Given the description of an element on the screen output the (x, y) to click on. 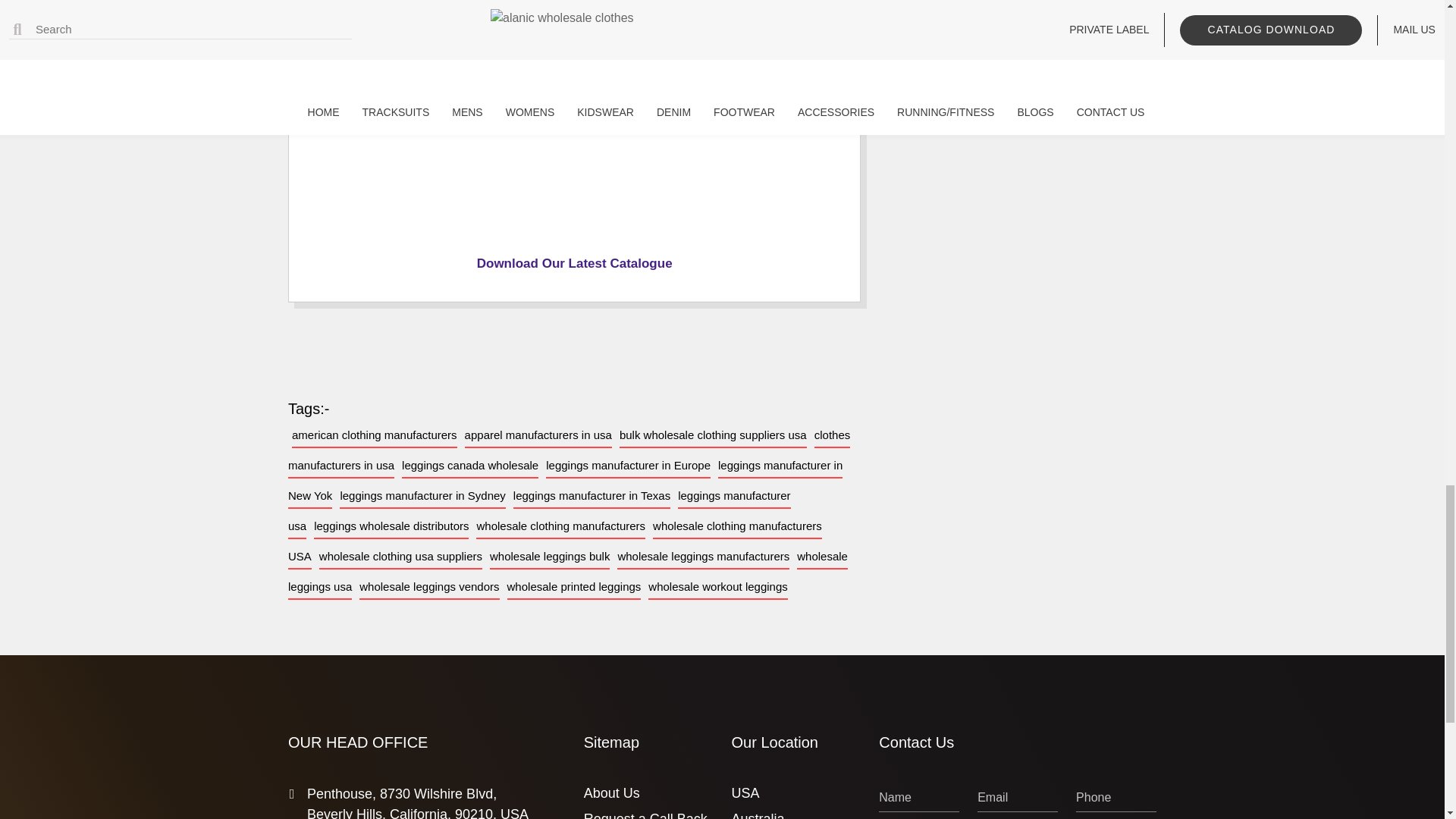
american clothing manufacturers (374, 435)
bulk wholesale clothing suppliers usa (713, 435)
leggings canada wholesale (469, 465)
leggings manufacturer in Europe (628, 465)
leggings wholesale distributors (391, 526)
Download Our Latest Catalogue (574, 263)
leggings manufacturer in Sydney (422, 496)
clothes manufacturers in usa (569, 450)
leggings manufacturer in New Yok (565, 480)
leggings manufacturer usa (539, 511)
